Given the description of an element on the screen output the (x, y) to click on. 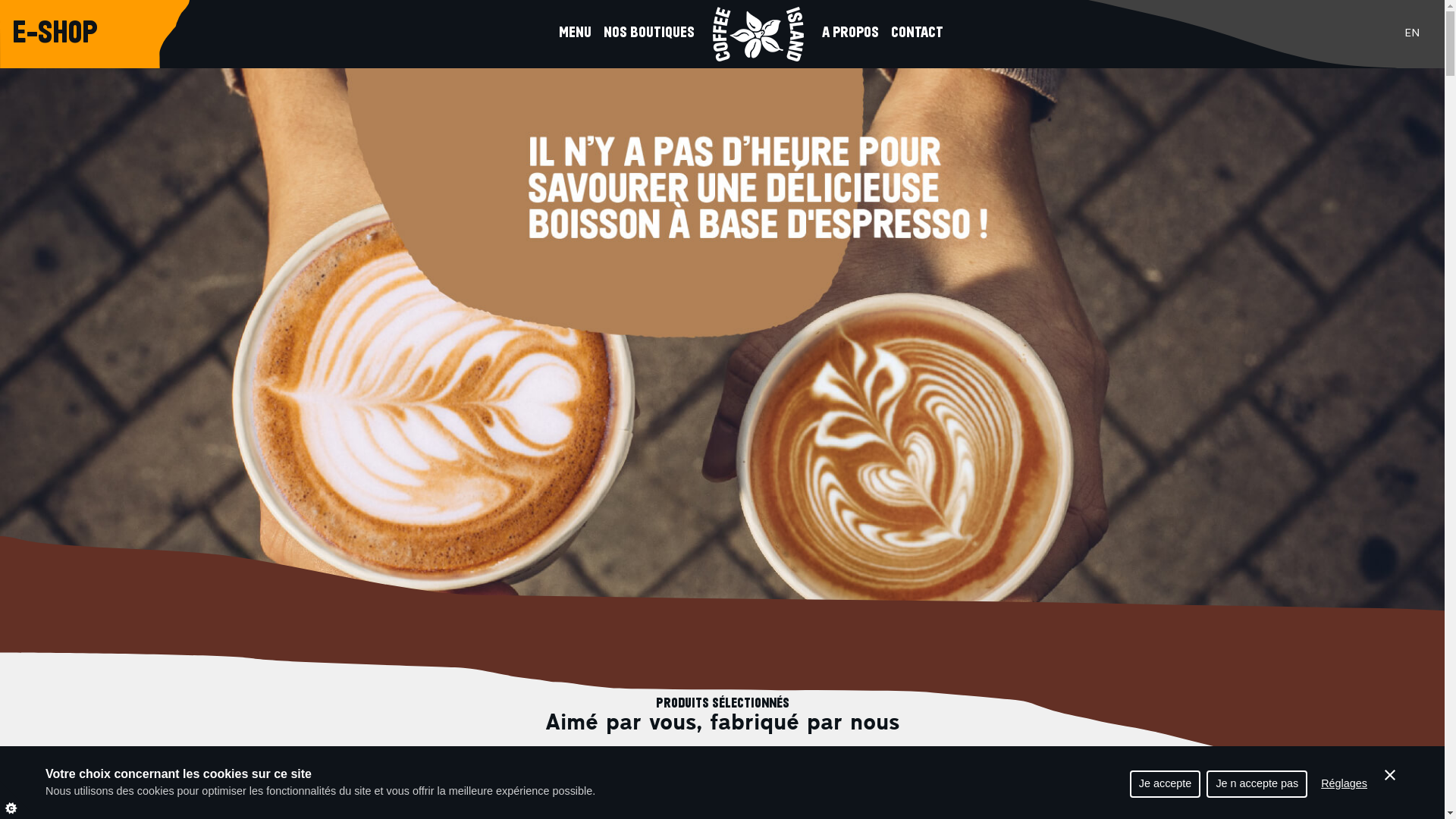
NOS BOUTIQUES Element type: text (648, 34)
MENU Element type: text (574, 34)
Je n accepte pas Element type: text (1256, 783)
CONTACT Element type: text (917, 34)
Maison Element type: hover (757, 34)
EN Element type: text (1412, 34)
A PROPOS Element type: text (850, 34)
Je accepte Element type: text (1165, 783)
E-SHOP Element type: text (54, 34)
